Given the description of an element on the screen output the (x, y) to click on. 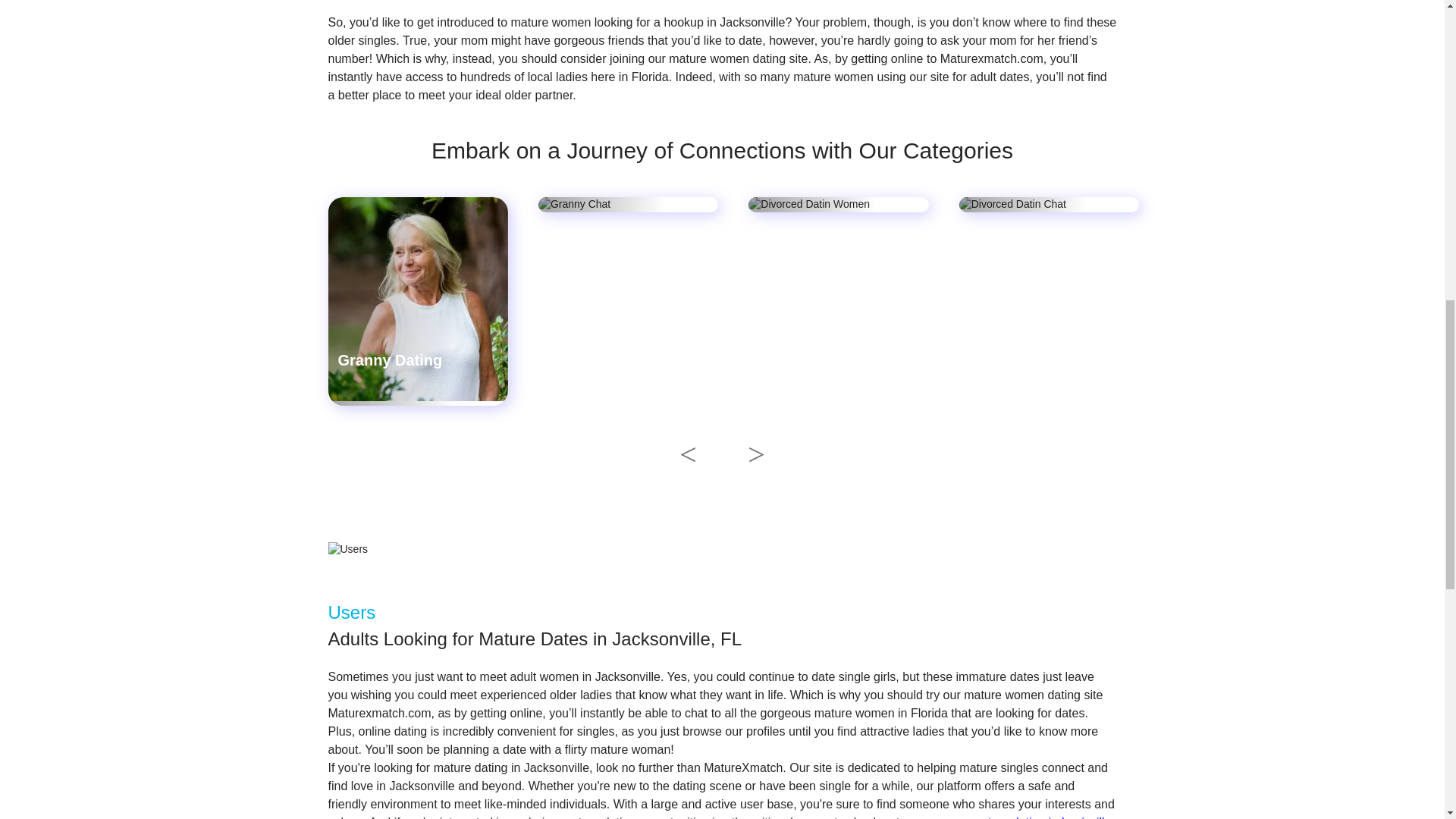
Divorced Datin Chat (1041, 360)
Granny Dating (389, 360)
Granny Chat (593, 360)
Divorced Datin Women (811, 375)
